Given the description of an element on the screen output the (x, y) to click on. 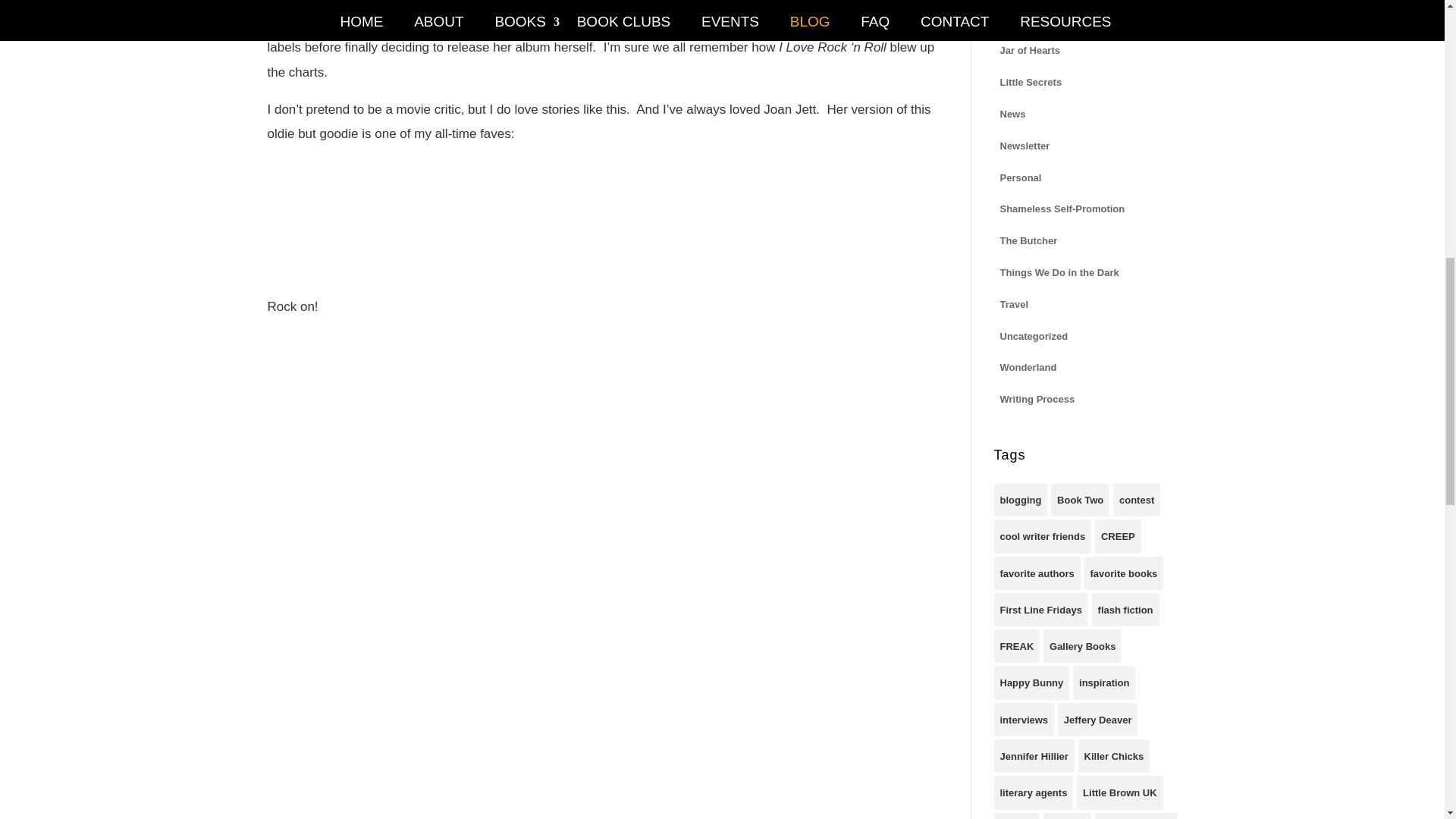
Writing Process (1036, 398)
Uncategorized (1033, 335)
Shameless Self-Promotion (1061, 208)
Creep (1012, 18)
The Butcher (1027, 240)
Newsletter (1023, 145)
Things We Do in the Dark (1058, 271)
blogging (1019, 499)
Travel (1012, 303)
News (1011, 113)
